Given the description of an element on the screen output the (x, y) to click on. 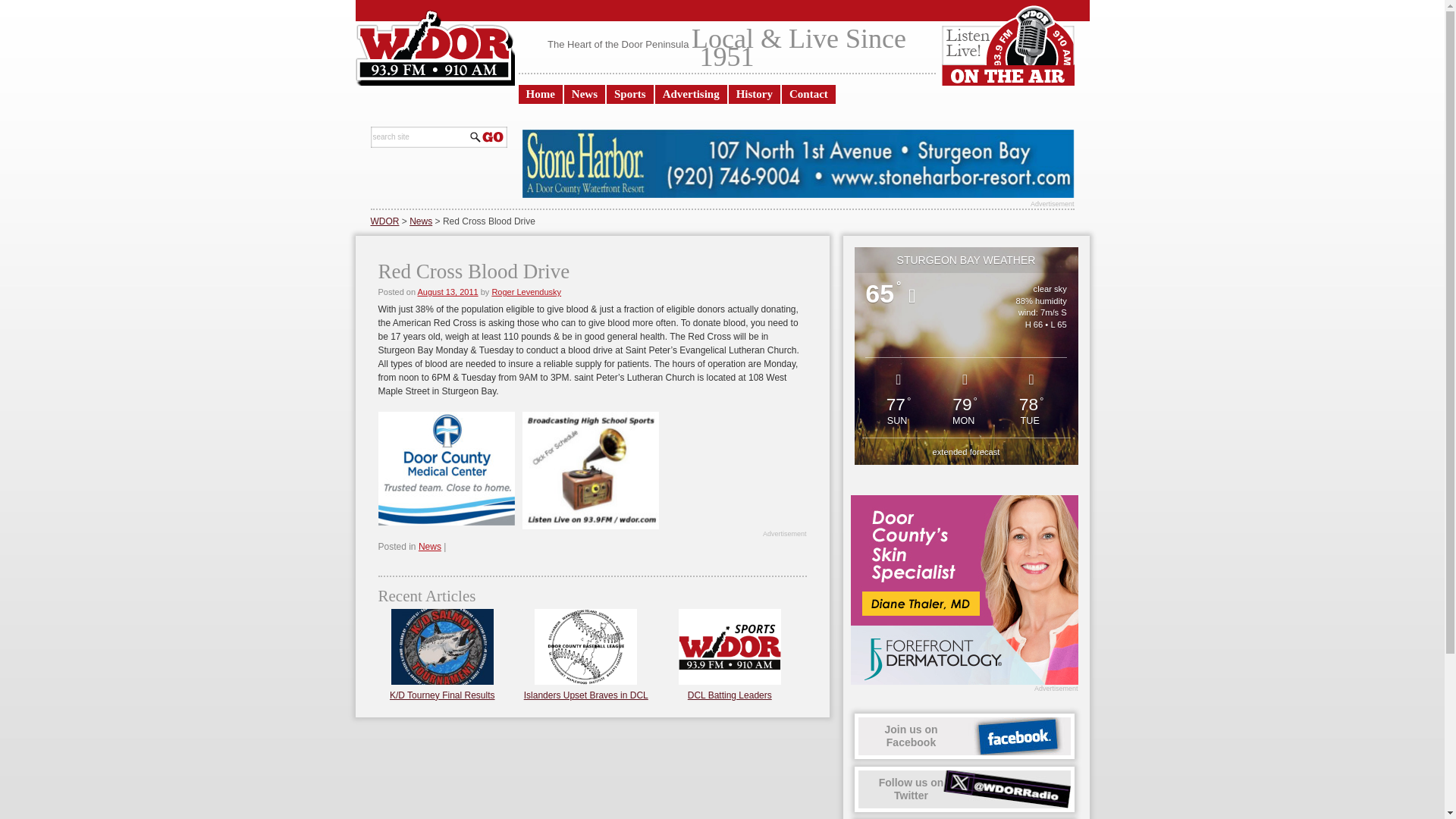
search site (964, 789)
extended forecast (418, 136)
Roger Levendusky (966, 451)
View all posts by Roger Levendusky (526, 291)
August 13, 2011 (526, 291)
News (446, 291)
DCL Batting Leaders (584, 94)
Go to the News category archives. (729, 695)
Islanders Upset Braves in DCL (420, 221)
8:42 PM (585, 695)
History (446, 291)
DCMC (754, 94)
